Given the description of an element on the screen output the (x, y) to click on. 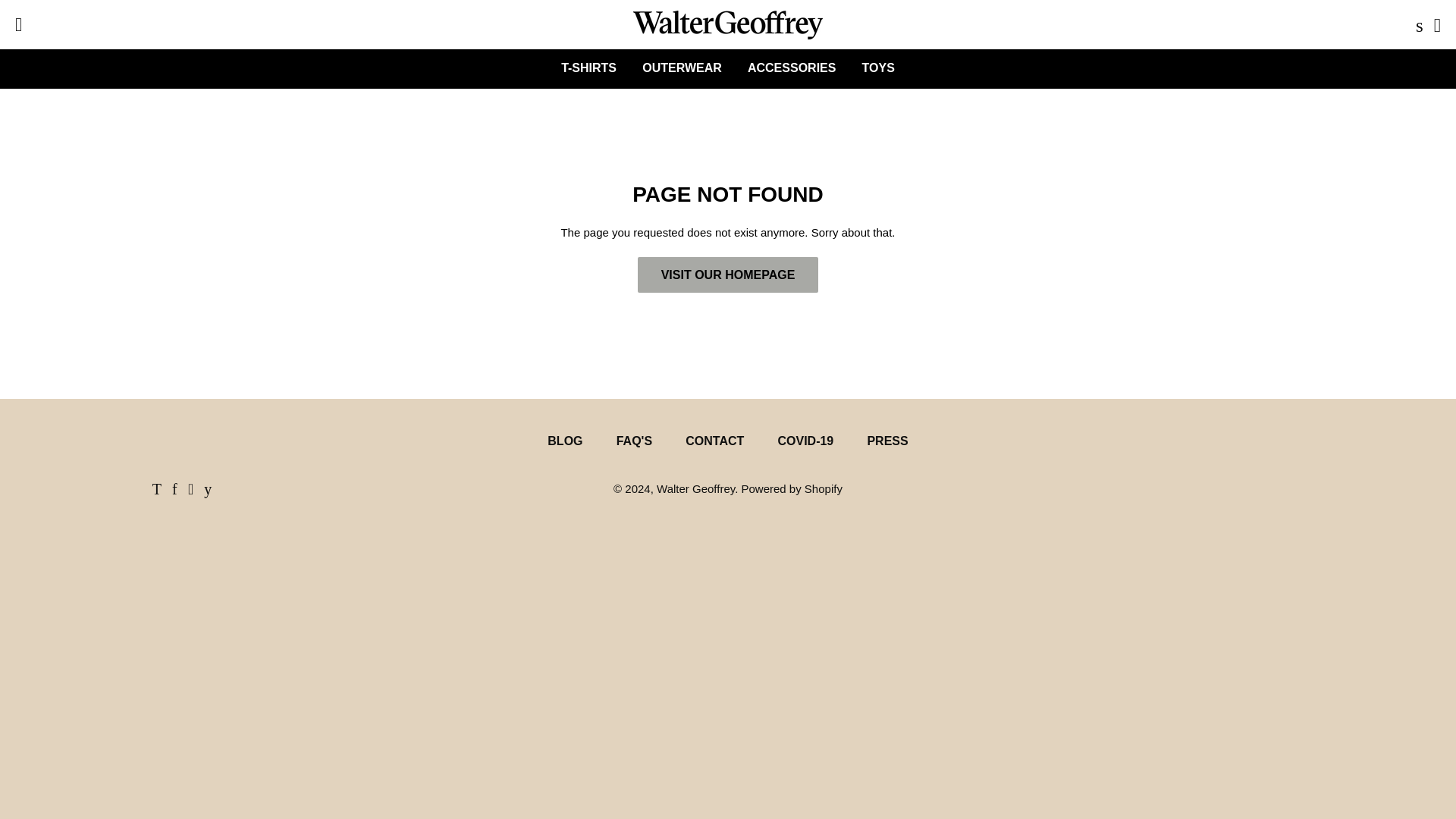
PRESS (887, 441)
VISIT OUR HOMEPAGE (727, 275)
CONTACT (713, 441)
ACCESSORIES (791, 67)
FAQ'S (633, 441)
Walter Geoffrey (695, 488)
COVID-19 (804, 441)
BLOG (564, 441)
T-SHIRTS (588, 67)
OUTERWEAR (681, 67)
